Given the description of an element on the screen output the (x, y) to click on. 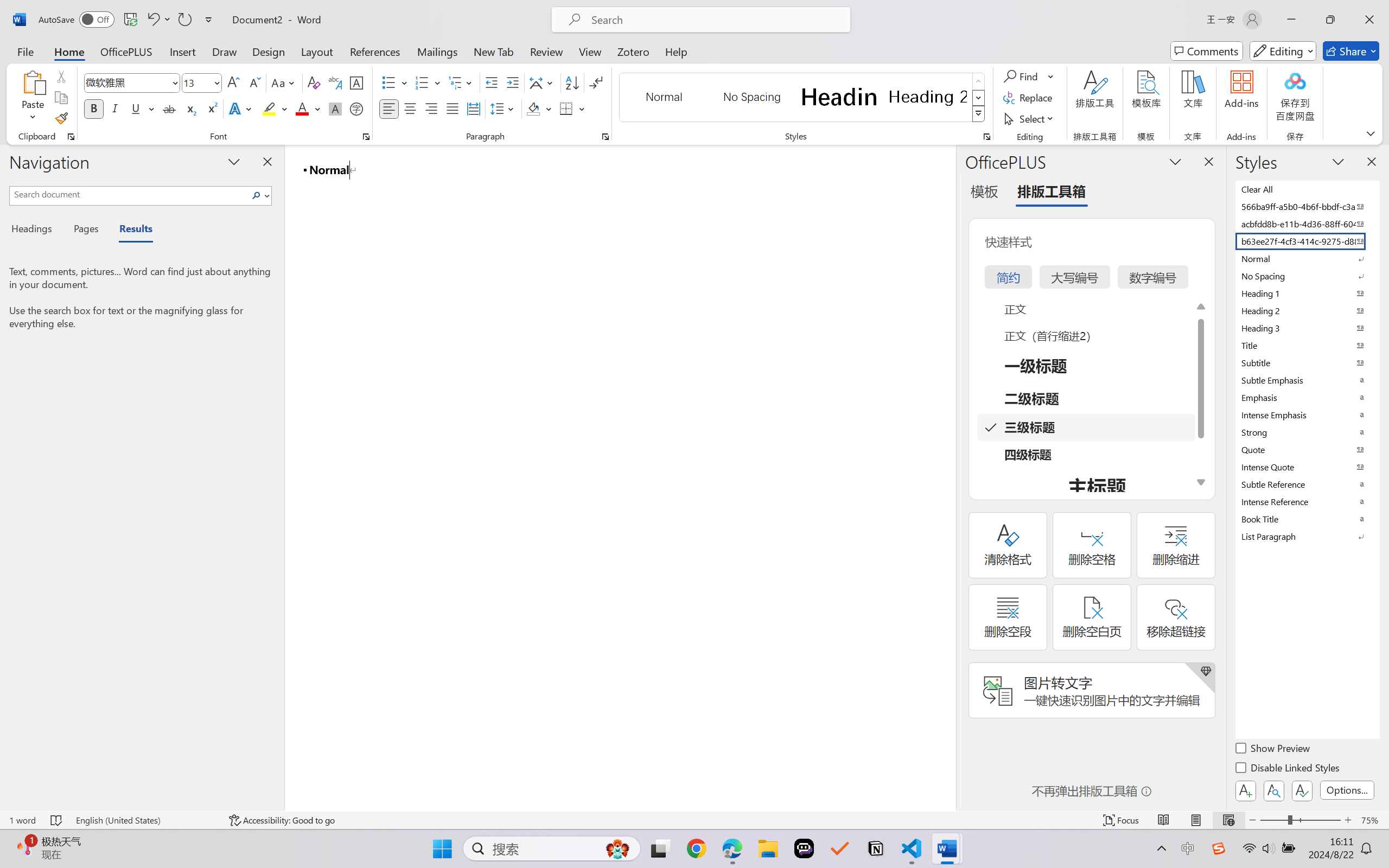
Open (215, 82)
Strong (1306, 431)
Home (69, 51)
Row Down (978, 97)
Undo <ApplyStyleToDoc>b__0 (152, 19)
Heading 2 (927, 96)
Disable Linked Styles (1287, 769)
Mode (1283, 50)
Font... (365, 136)
Zoom (1300, 819)
Superscript (210, 108)
